Given the description of an element on the screen output the (x, y) to click on. 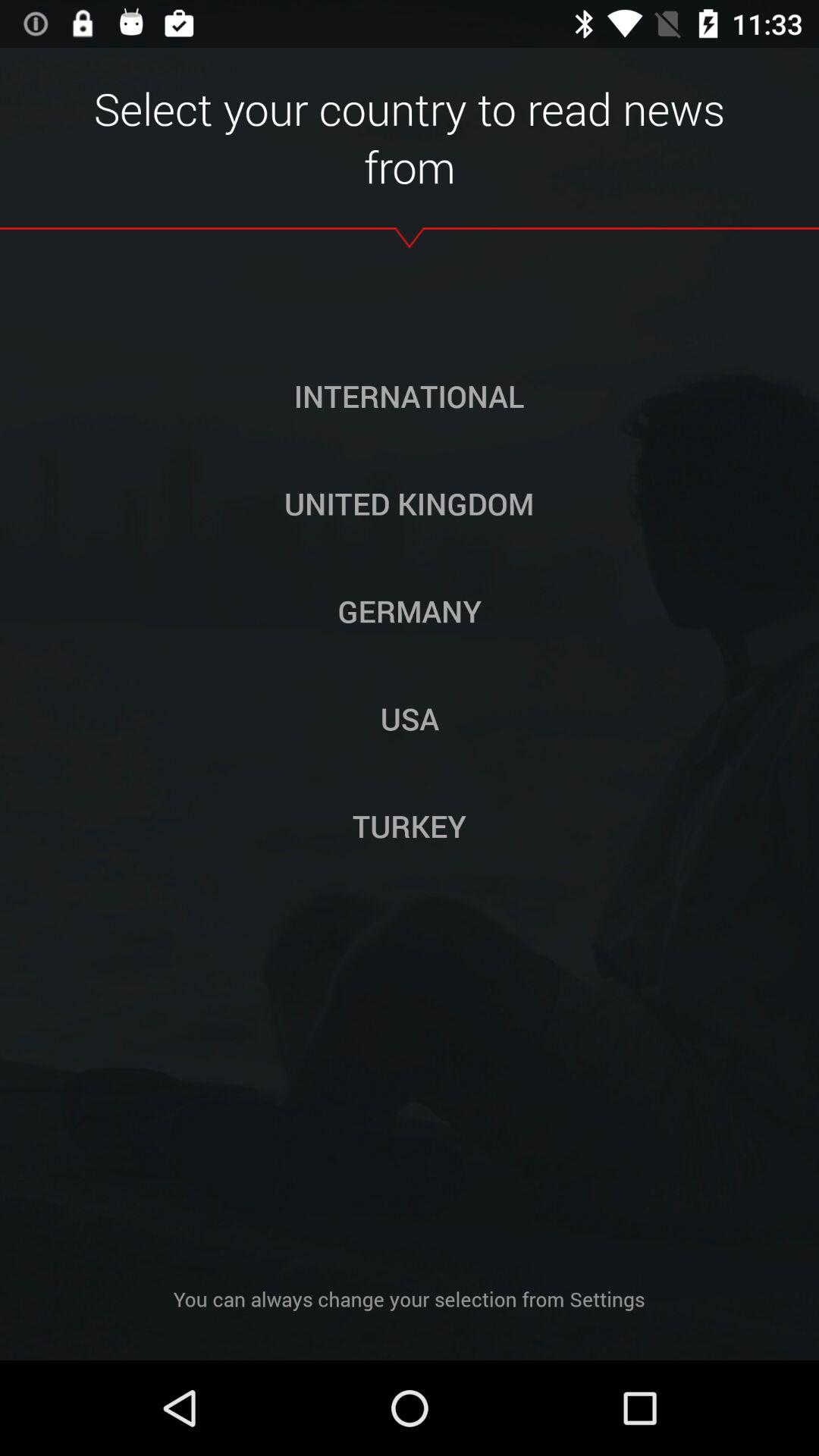
press icon below the usa button (409, 825)
